Given the description of an element on the screen output the (x, y) to click on. 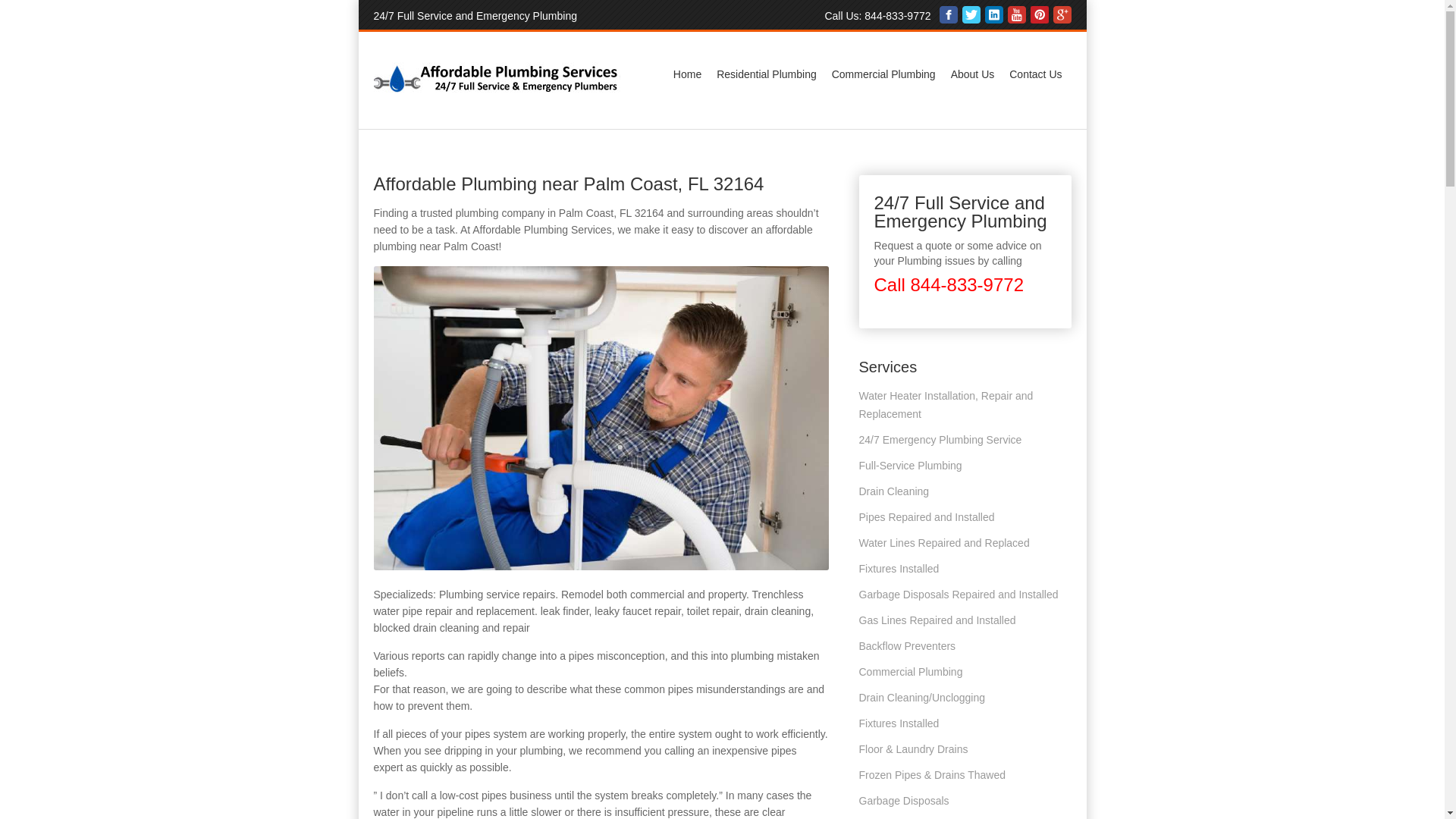
About Us (972, 74)
Residential Plumbing (766, 74)
Commercial Plumbing (883, 74)
Home (686, 74)
844-833-9772 (897, 15)
Contact Us (1035, 74)
